Given the description of an element on the screen output the (x, y) to click on. 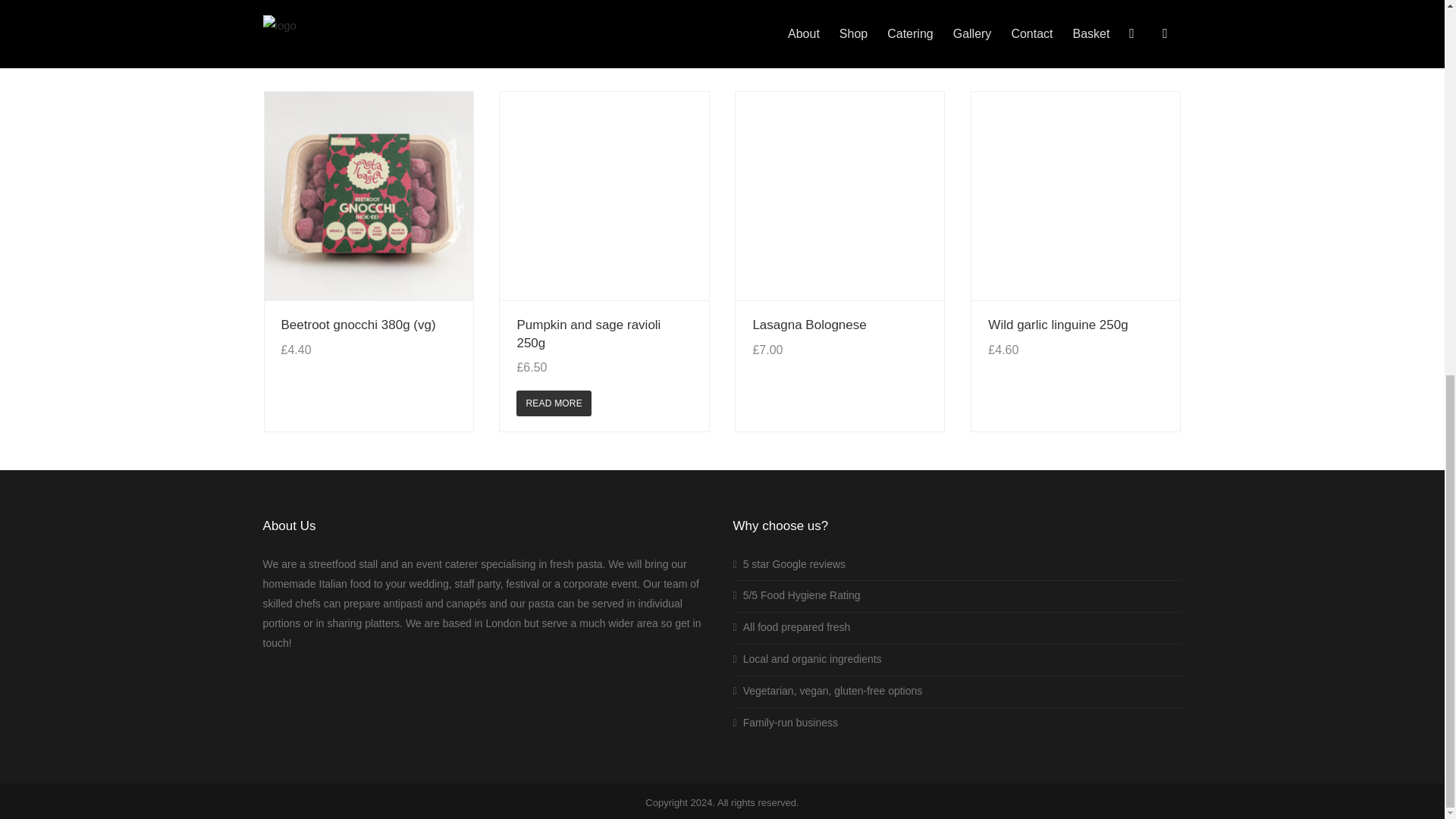
Wild garlic linguine 250g (1057, 324)
Pumpkin and sage ravioli 250g (588, 333)
READ MORE (553, 403)
Lasagna Bolognese (809, 324)
